Given the description of an element on the screen output the (x, y) to click on. 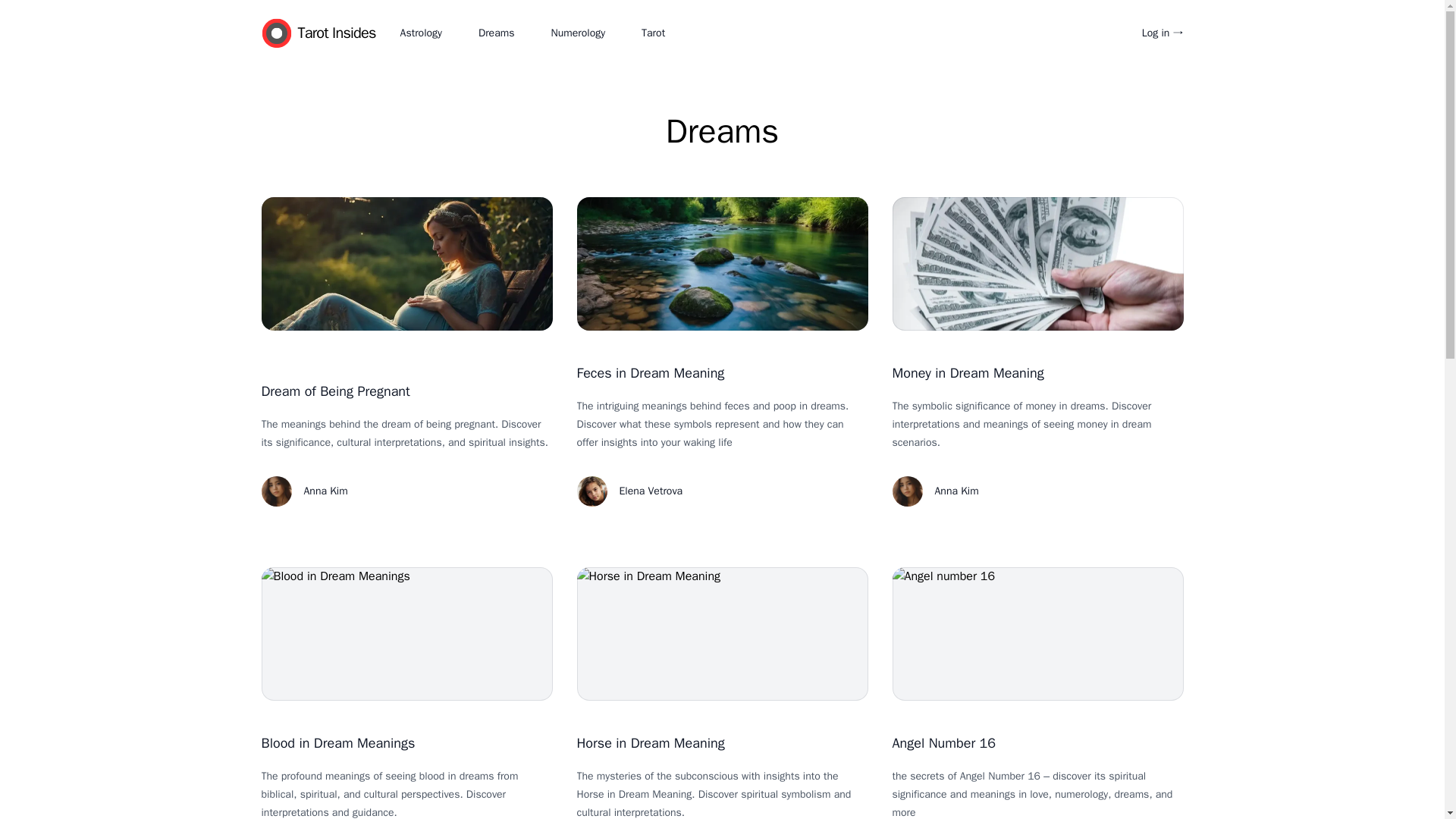
Dreams (497, 33)
Tarot Insides (329, 33)
Blood in Dream Meanings (337, 742)
Angel number 16 (1036, 634)
Tarot (653, 33)
Astrology (421, 33)
Feces in Dream Meaning (649, 372)
Blood in Dream Meanings (405, 634)
Horse in Dream Meaning (649, 742)
Dream of Being Pregnant (334, 391)
